Given the description of an element on the screen output the (x, y) to click on. 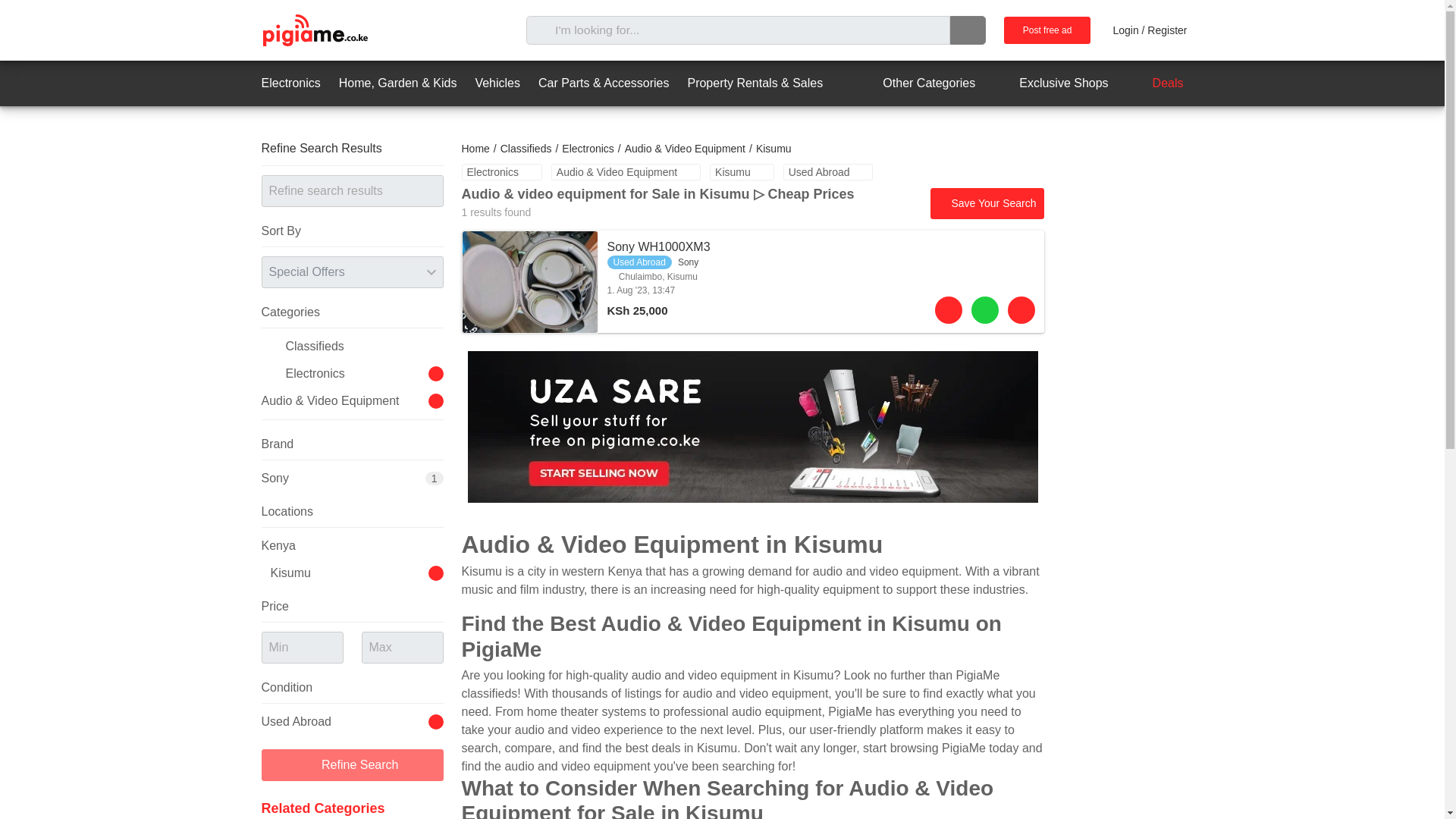
Deals (1155, 83)
PigiaMe (314, 29)
Electronics (587, 148)
Kisumu (742, 171)
Classifieds (525, 148)
Classifieds (355, 346)
Electronics (290, 83)
Post free ad (1047, 30)
Electronics (355, 373)
Other Categories (915, 83)
Vehicles (497, 83)
Used Abroad (828, 171)
Electronics (501, 171)
Exclusive Shops (1050, 83)
